Given the description of an element on the screen output the (x, y) to click on. 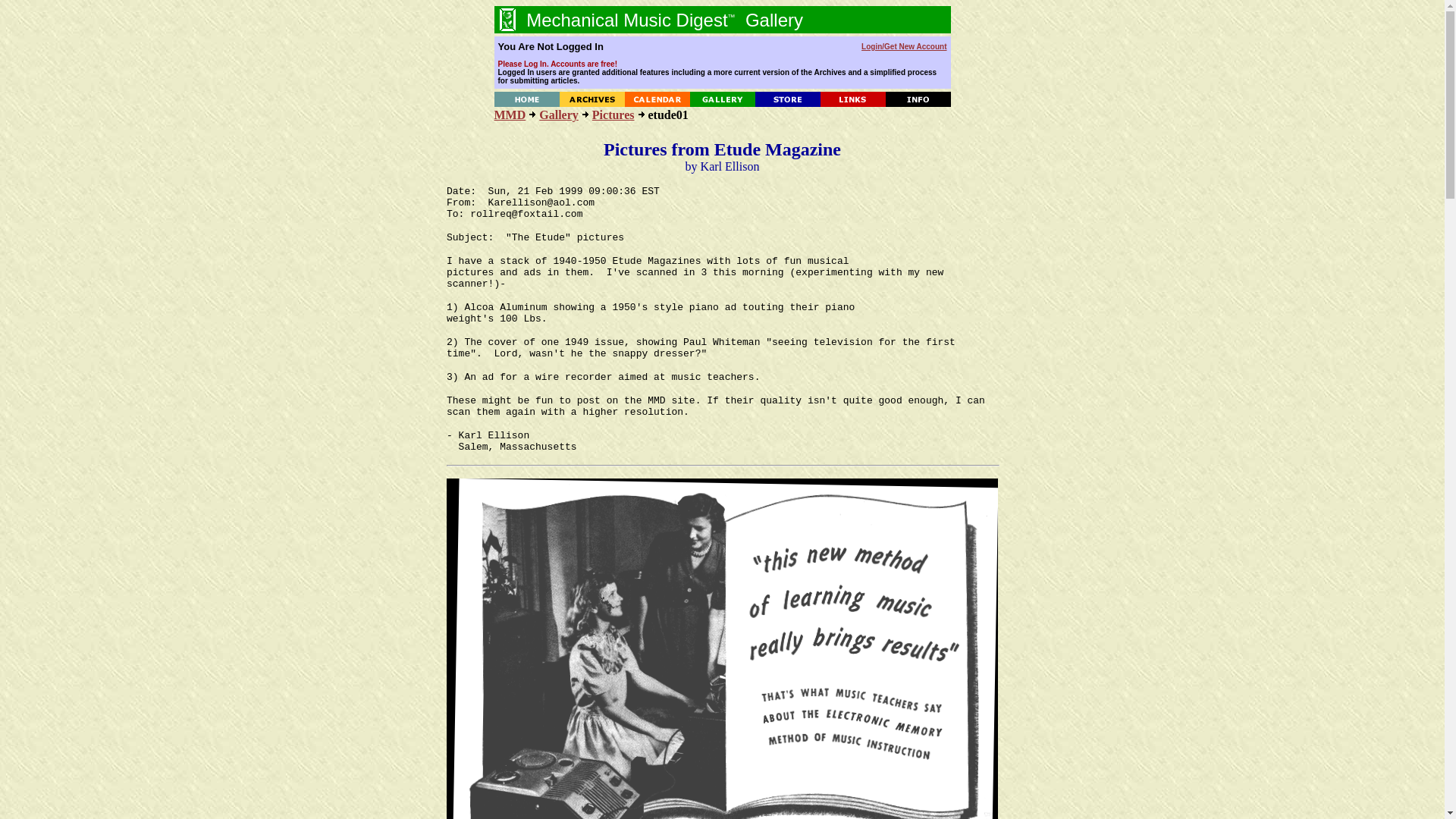
Gallery (558, 114)
MMD (510, 114)
Pictures (613, 114)
